Given the description of an element on the screen output the (x, y) to click on. 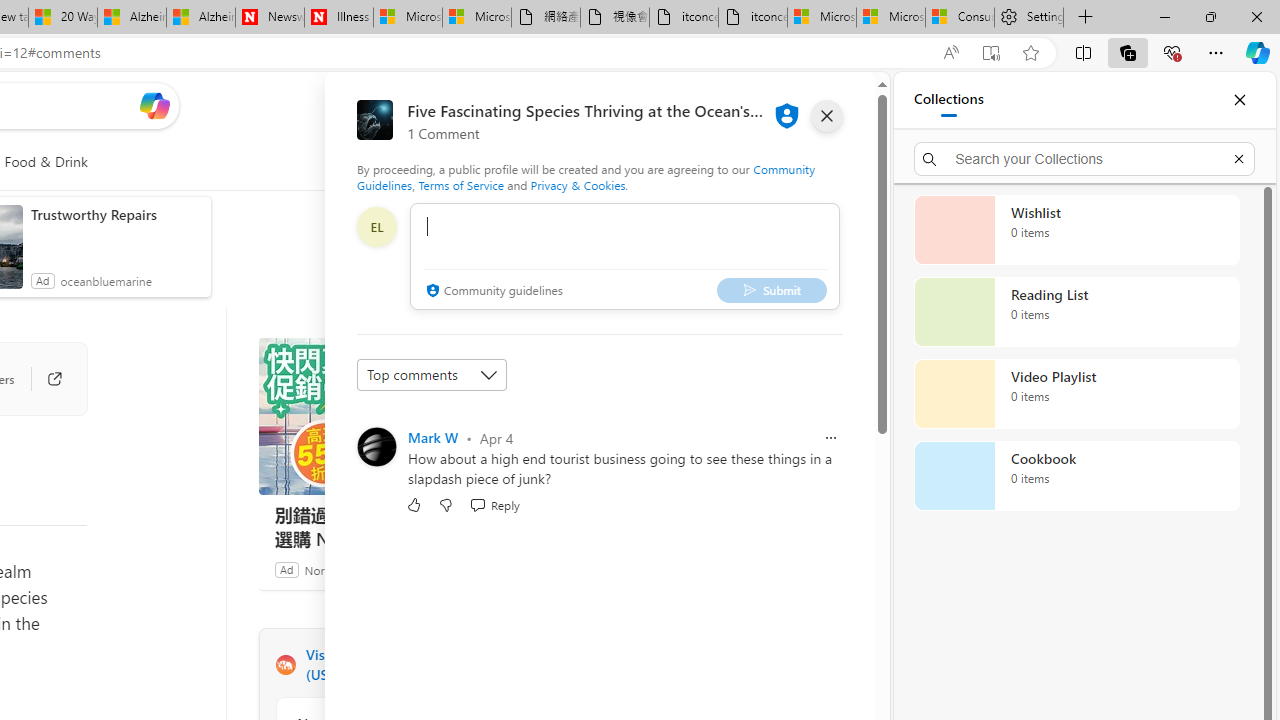
Trustworthy Repairs (116, 214)
Privacy & Cookies (577, 184)
Ad Choice (535, 569)
Video Playlist collection, 0 items (1076, 394)
Wishlist collection, 0 items (1076, 229)
Exit search (1238, 158)
Profile Picture (376, 446)
Nordace (326, 569)
